Given the description of an element on the screen output the (x, y) to click on. 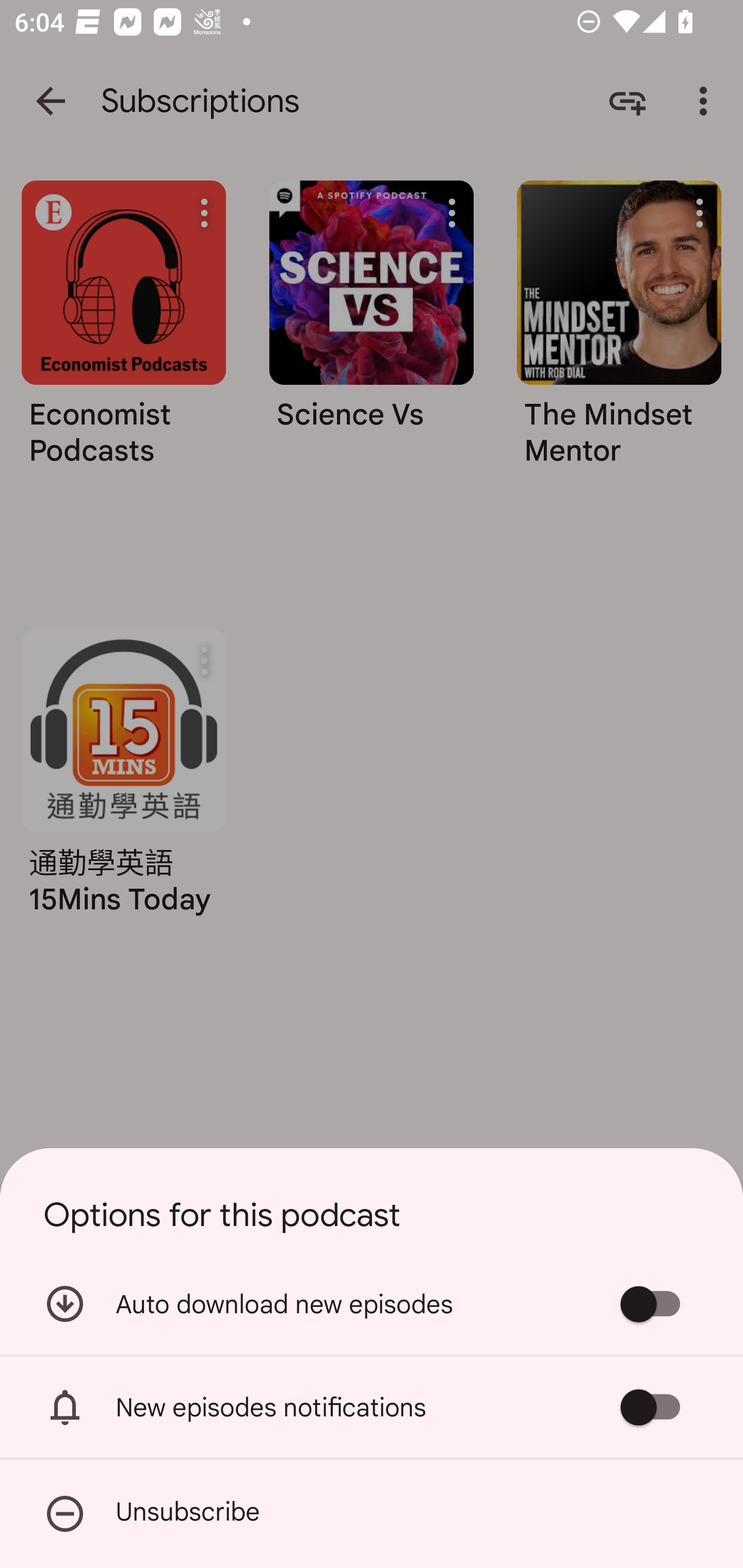
Auto download new episodes (371, 1303)
New episodes notifications (371, 1407)
Unsubscribe (371, 1513)
